Given the description of an element on the screen output the (x, y) to click on. 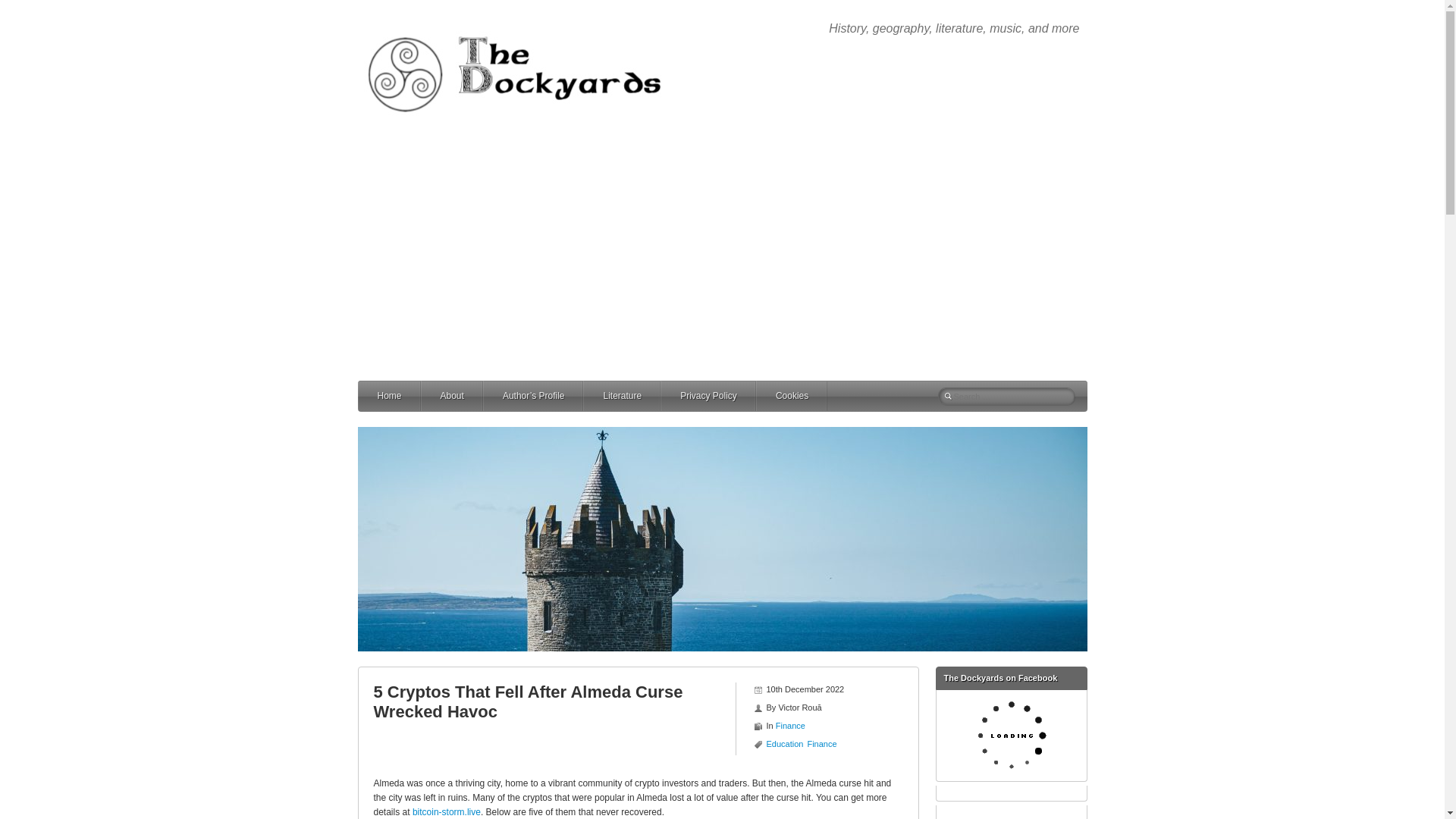
About (471, 395)
Literature (640, 395)
bitcoin-storm.live (446, 811)
Cookies (810, 395)
Finance (790, 725)
Privacy Policy (727, 395)
Search (24, 8)
Finance (820, 743)
The Dockyards (525, 25)
